Given the description of an element on the screen output the (x, y) to click on. 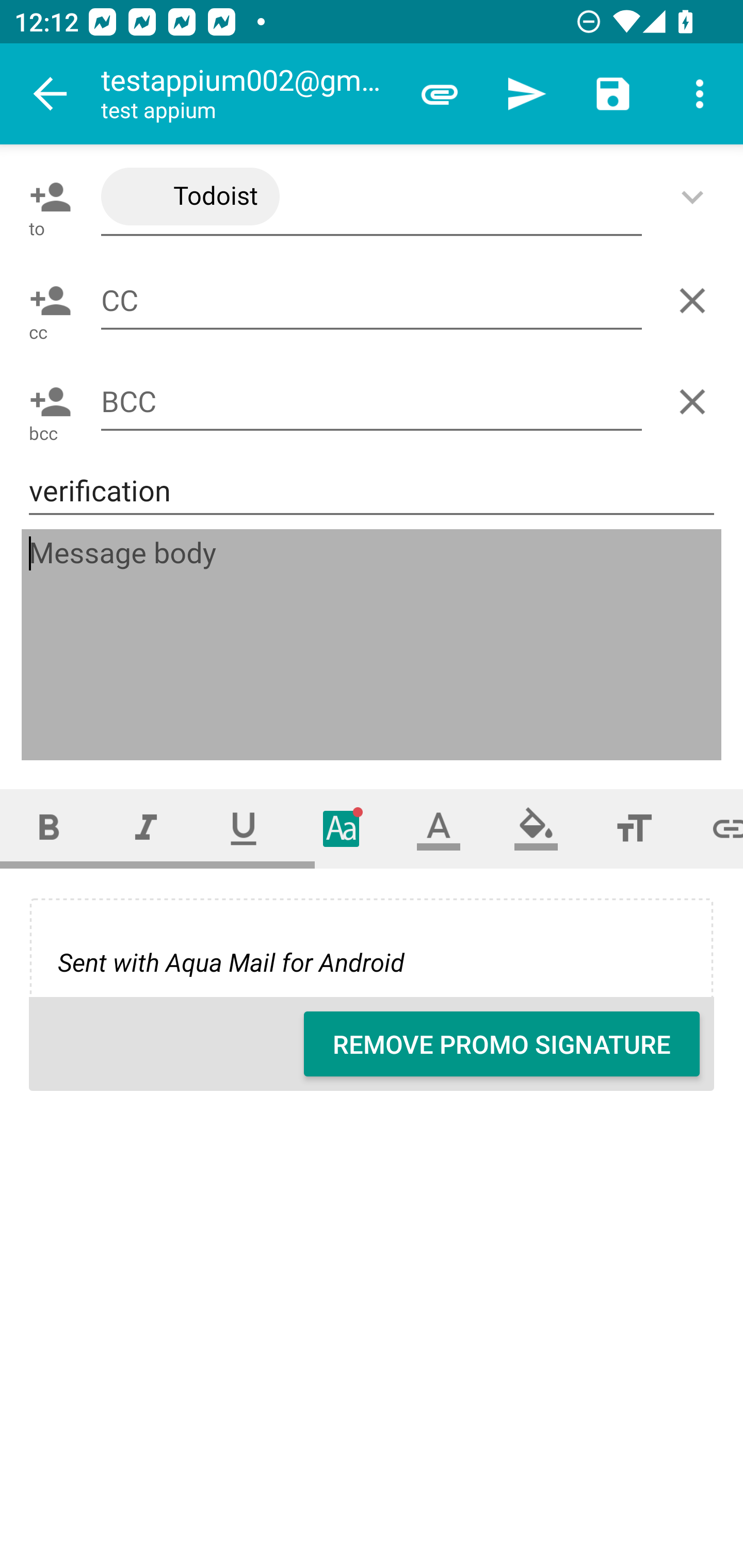
Navigate up (50, 93)
testappium002@gmail.com test appium (248, 93)
Attach (439, 93)
Send (525, 93)
Save (612, 93)
More options (699, 93)
Todoist <no-reply@todoist.com>,  (371, 197)
Pick contact: To (46, 196)
Show/Add CC/BCC (696, 196)
Pick contact: CC (46, 300)
Delete (696, 300)
CC (371, 300)
Pick contact: BCC (46, 401)
Delete (696, 401)
BCC (371, 402)
verification (371, 490)
Message body (372, 645)
Bold (48, 828)
Italic (145, 828)
Underline (243, 828)
Typeface (font) (341, 828)
Text color (438, 828)
Fill color (536, 828)
Font size (633, 828)
REMOVE PROMO SIGNATURE (501, 1044)
